Given the description of an element on the screen output the (x, y) to click on. 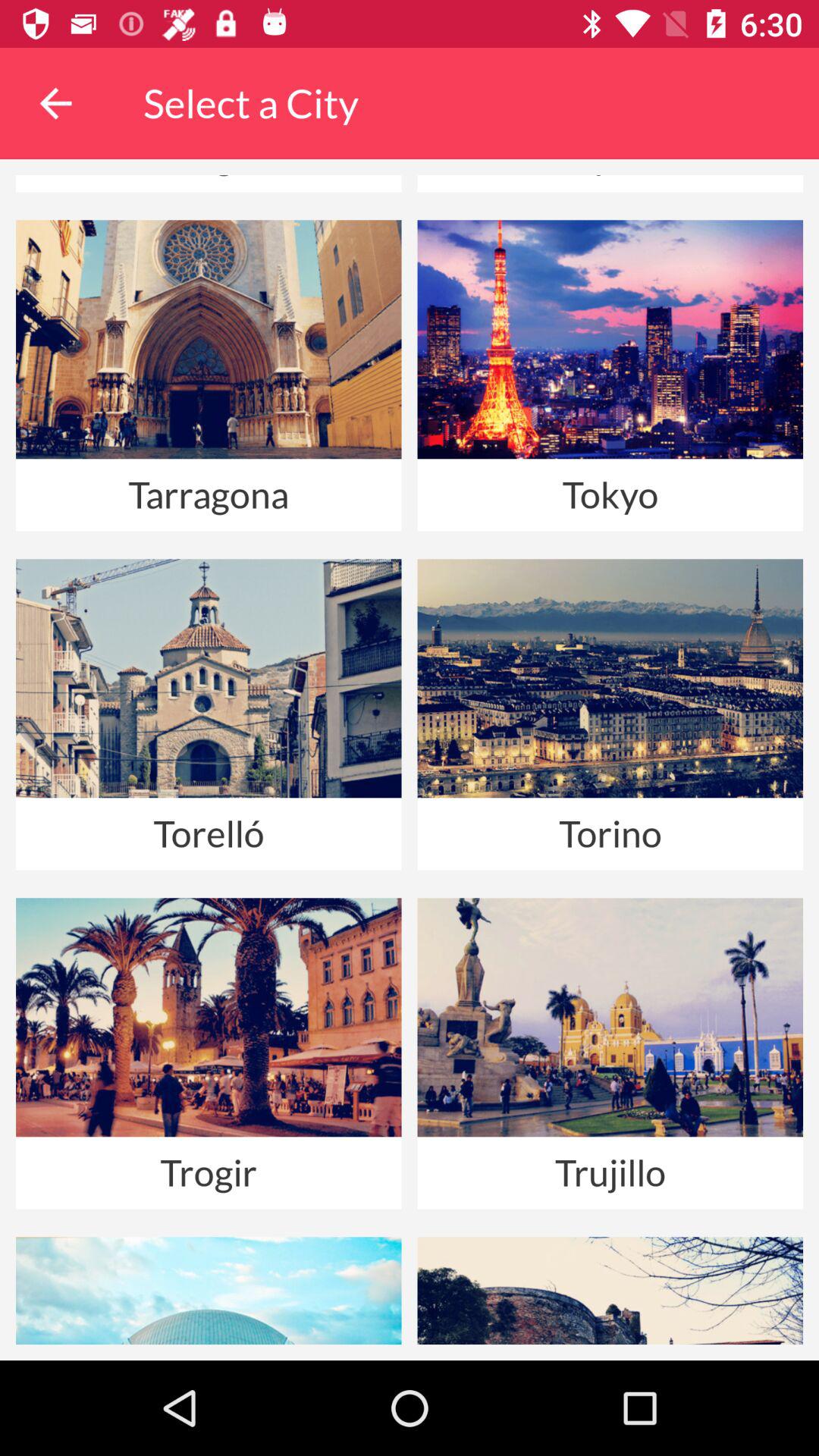
open item to the left of the select a city (55, 103)
